Given the description of an element on the screen output the (x, y) to click on. 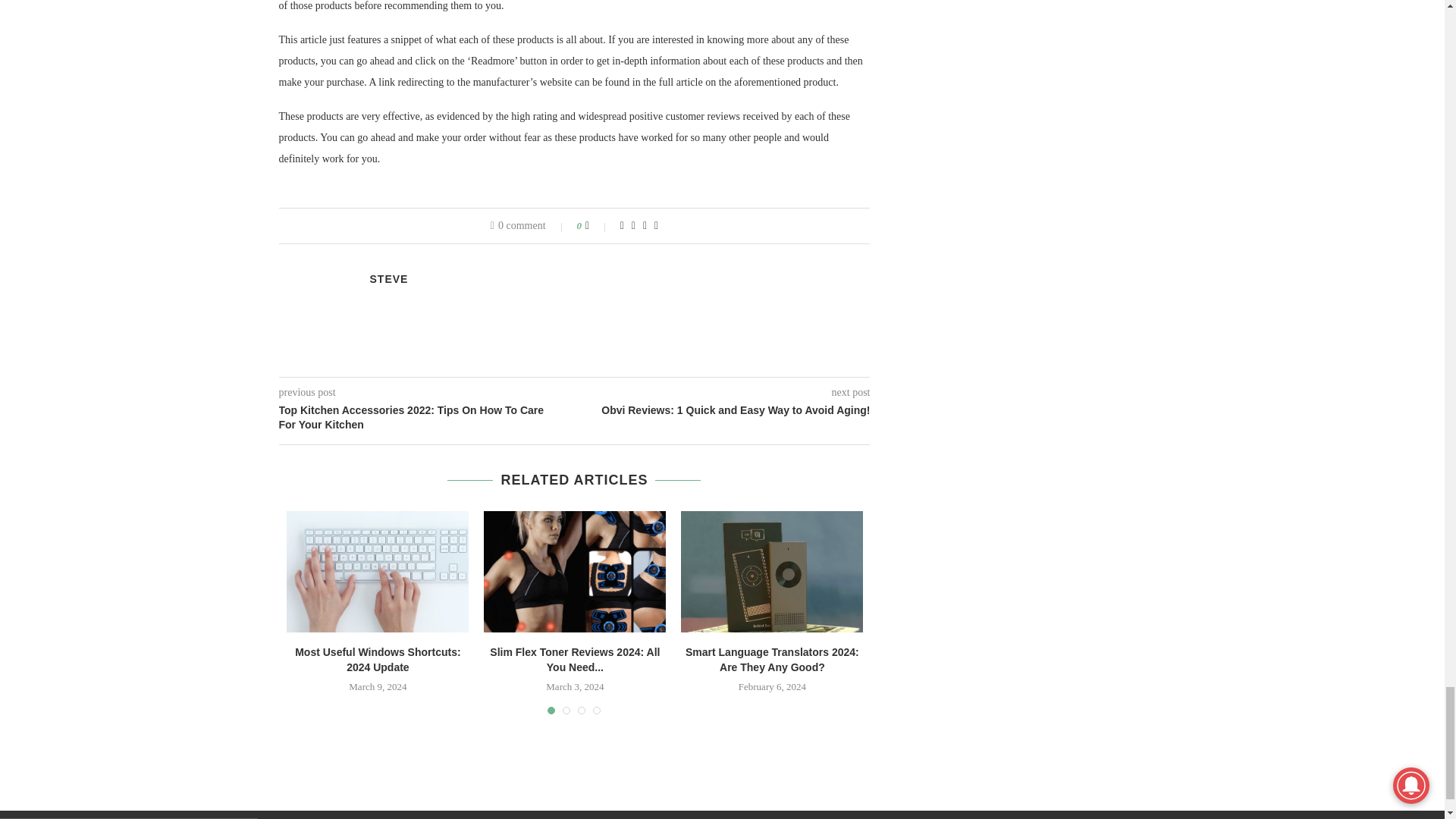
Smart Language Translators 2024: Are They Any Good? (772, 571)
Like (597, 225)
Most Useful Windows Shortcuts: 2024 Update (377, 571)
Posts by Steve (389, 278)
Slim Flex Toner Reviews 2024: All You Need To Know! (574, 571)
